Given the description of an element on the screen output the (x, y) to click on. 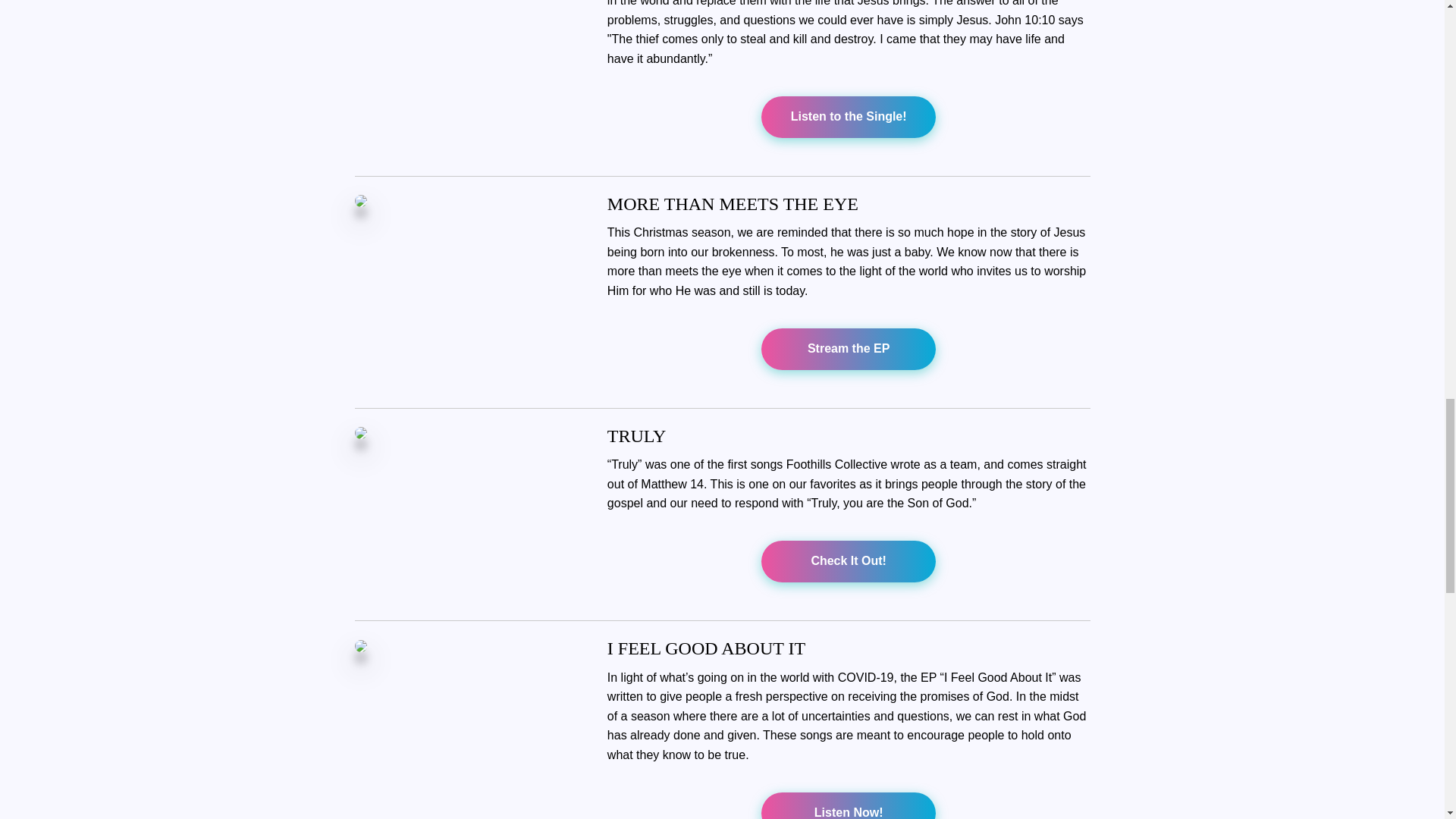
Listen to the Single! (848, 117)
Stream the EP (848, 349)
Check It Out! (847, 560)
Listen Now! (847, 812)
Check It Out! (848, 561)
Listen Now! (848, 805)
Stream the EP (847, 348)
Listen to the Single! (847, 115)
